Given the description of an element on the screen output the (x, y) to click on. 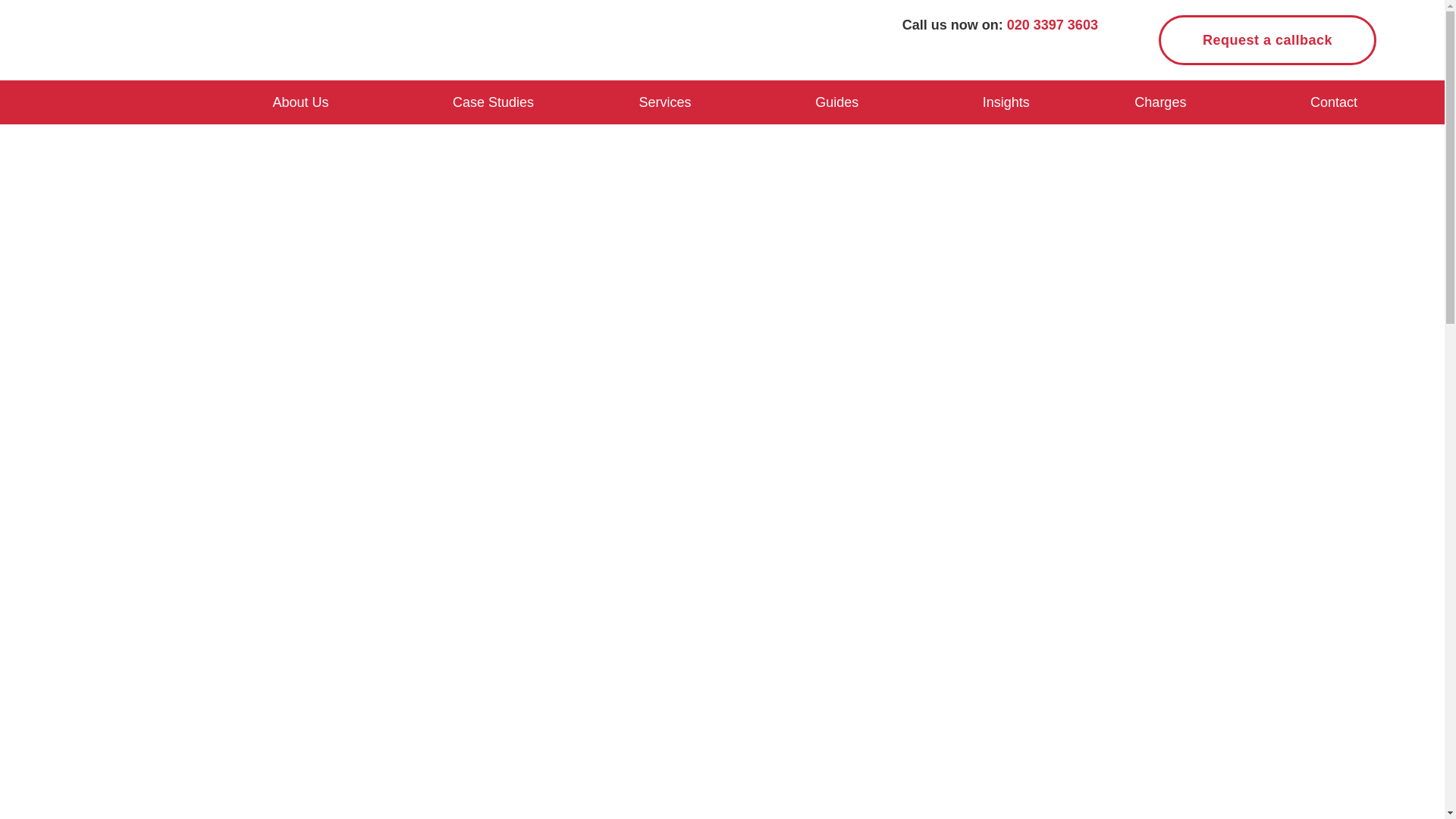
Insights (1006, 102)
Case Studies (493, 102)
020 3397 3603 (1052, 24)
Contact (1334, 102)
About Us (300, 102)
Request a callback (1266, 40)
Charges (1160, 102)
Request a callback (1266, 40)
Guides (836, 102)
Services (665, 102)
